Given the description of an element on the screen output the (x, y) to click on. 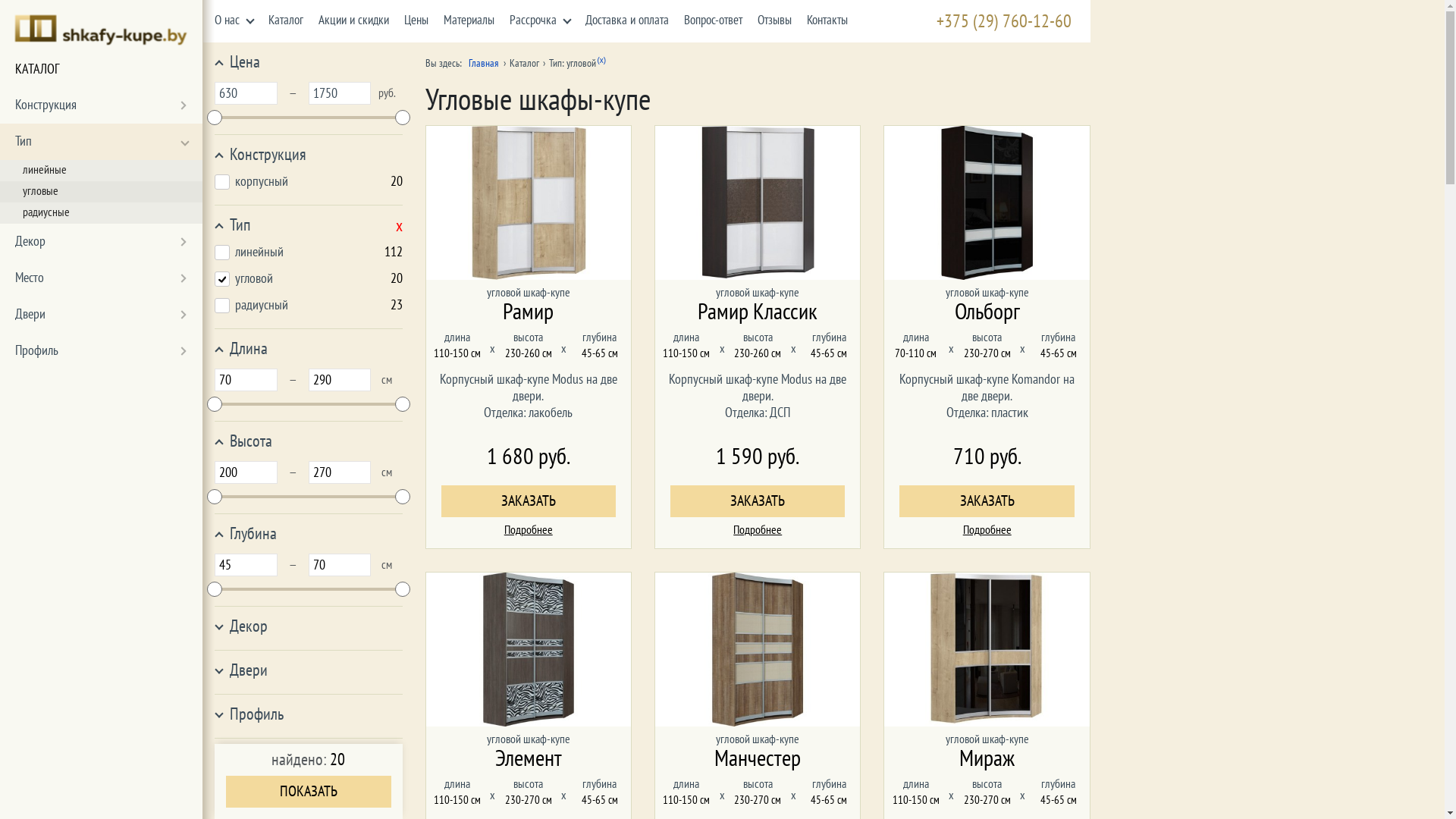
(x) Element type: text (601, 60)
+375 (29) 760-12-60 Element type: text (975, 21)
x Element type: text (398, 225)
